Given the description of an element on the screen output the (x, y) to click on. 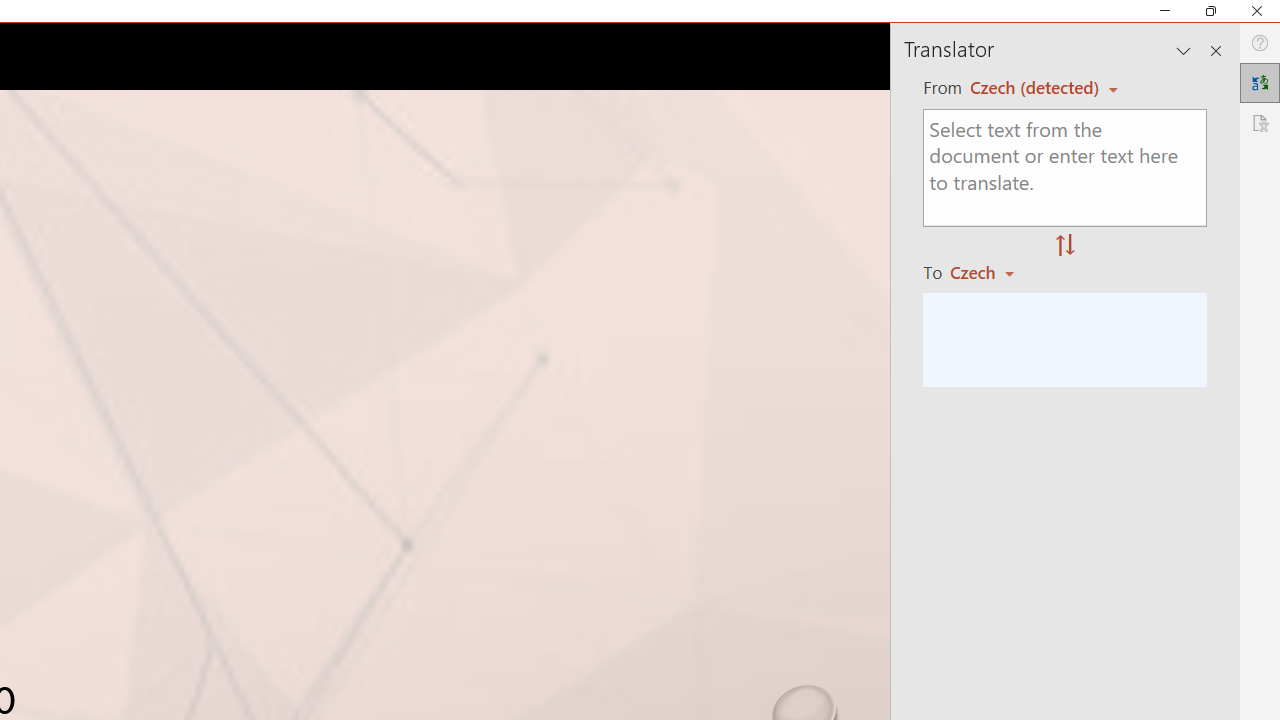
Accessibility (1260, 122)
Czech (detected) (1037, 87)
Czech (991, 272)
Swap "from" and "to" languages. (1065, 245)
Task Pane Options (1183, 50)
Help (1260, 43)
Close pane (1215, 50)
Translator (1260, 82)
